Given the description of an element on the screen output the (x, y) to click on. 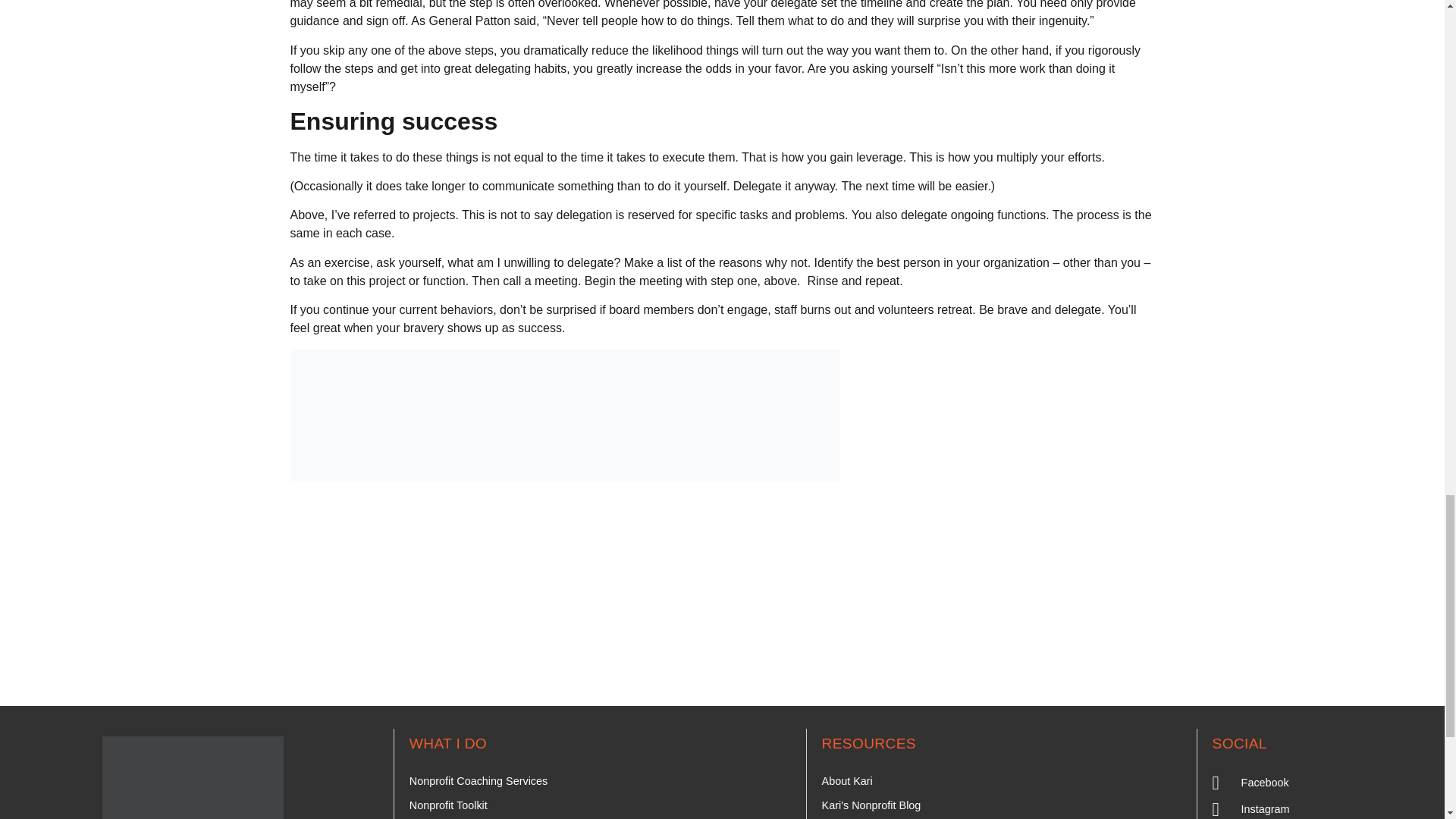
About Kari (847, 781)
Nonprofit Coaching Services (478, 781)
Kari's Nonprofit Blog (871, 805)
Nonprofit Toolkit (448, 805)
